Given the description of an element on the screen output the (x, y) to click on. 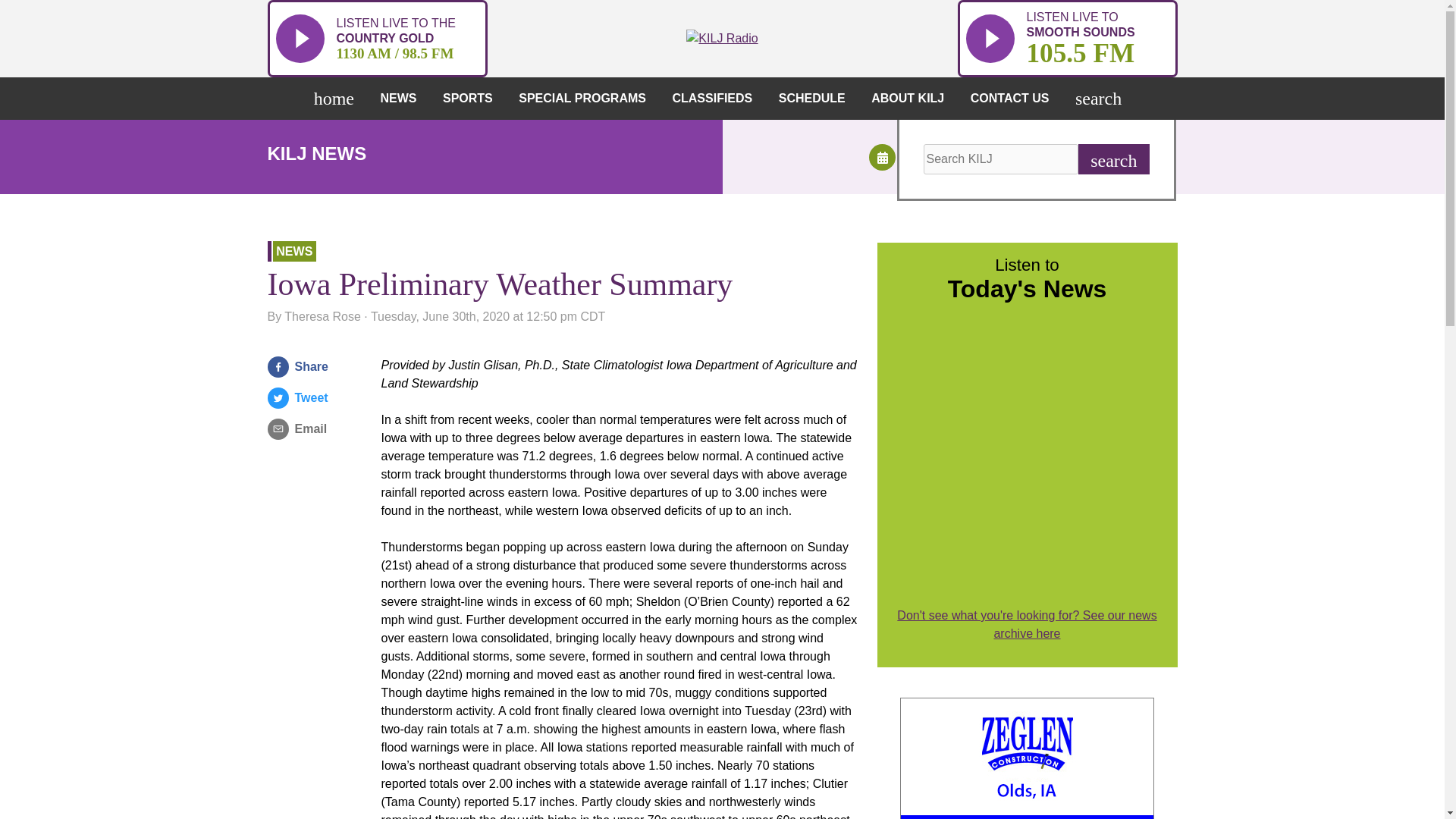
NEWS (402, 97)
home (337, 97)
SPORTS (1066, 38)
